Given the description of an element on the screen output the (x, y) to click on. 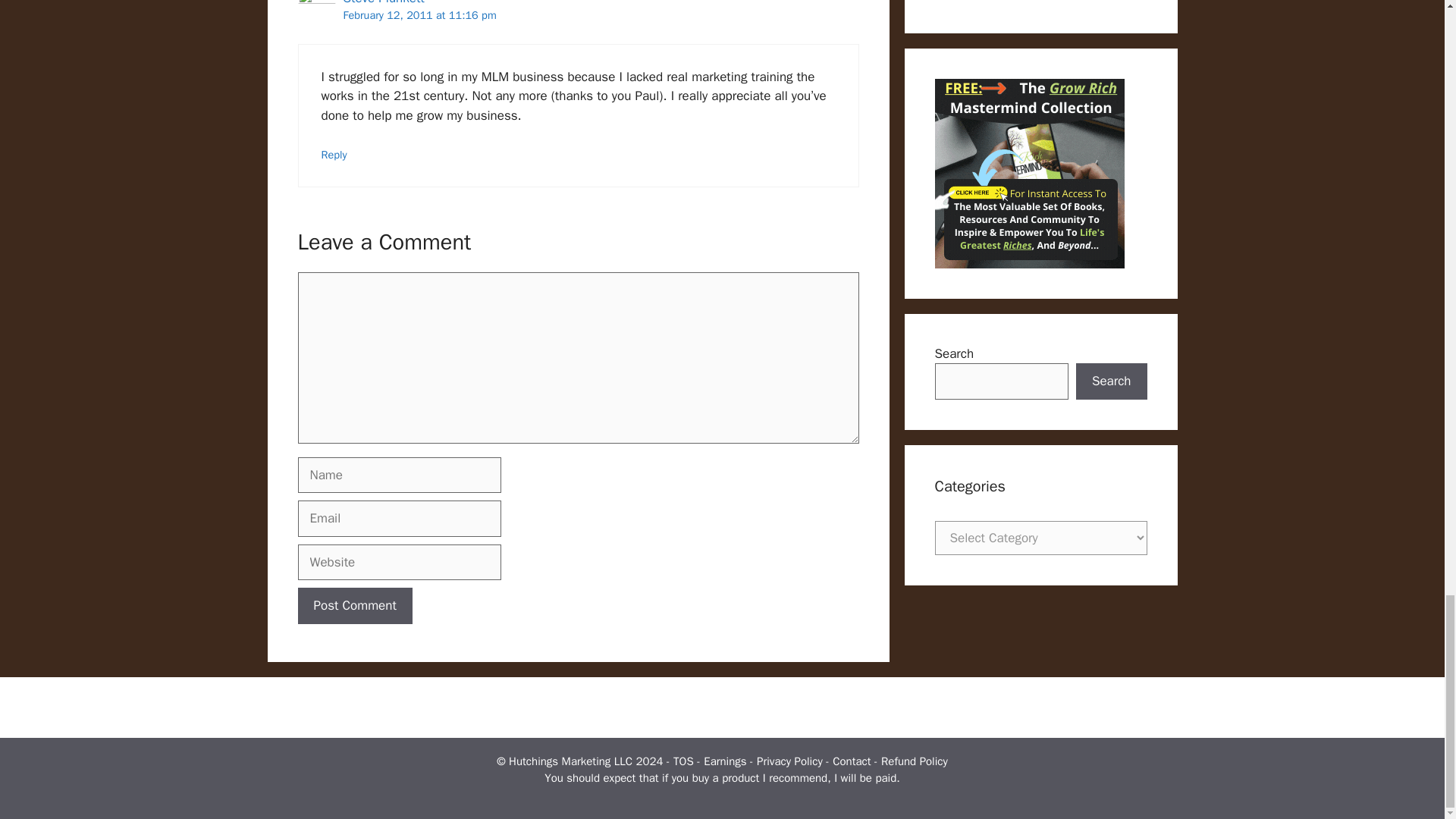
Post Comment (354, 606)
Steve Plunkett (382, 2)
February 12, 2011 at 11:16 pm (419, 15)
Reply (334, 154)
Post Comment (354, 606)
